Given the description of an element on the screen output the (x, y) to click on. 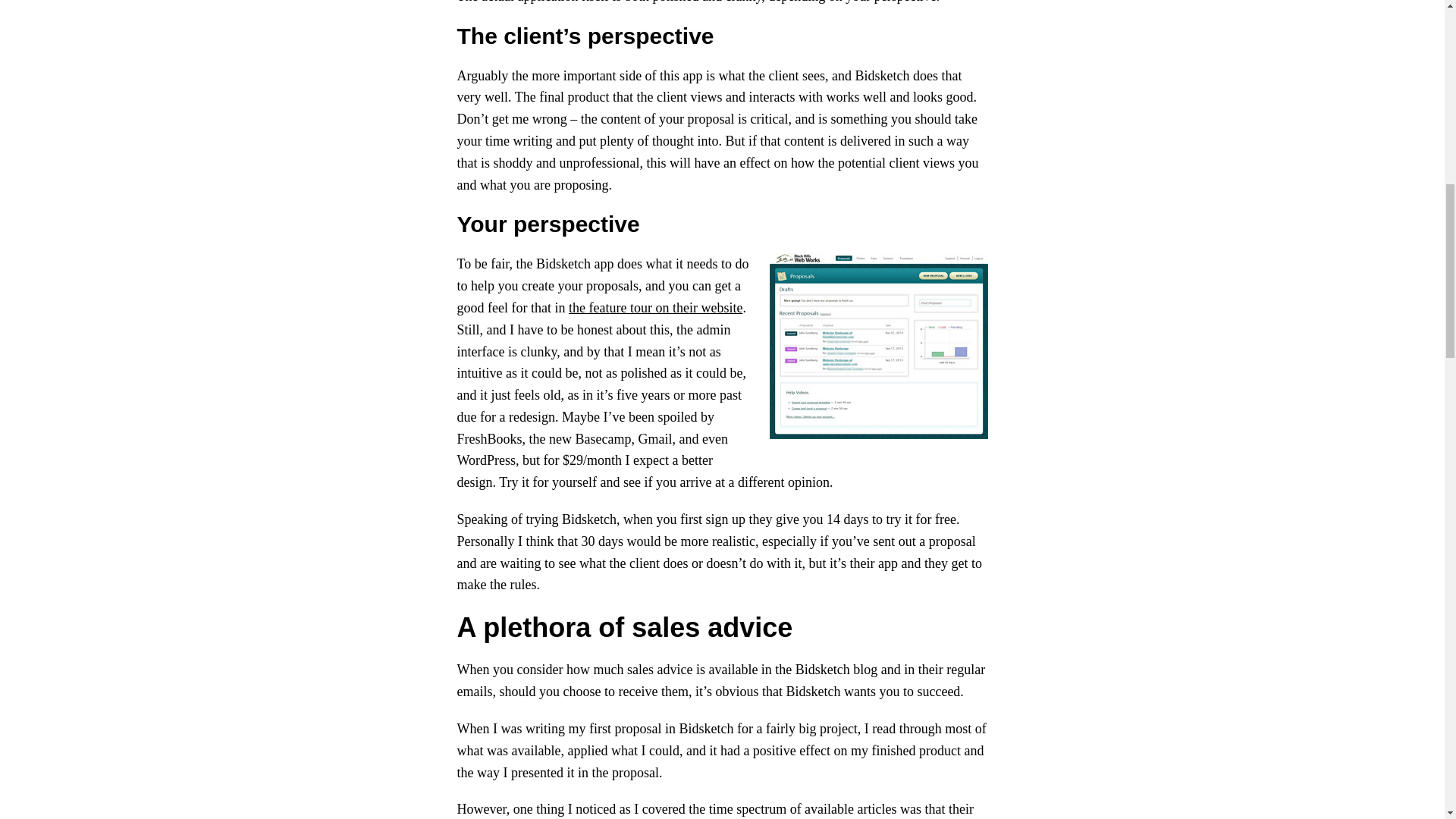
Bidsketch dashboard screenshot (877, 345)
the feature tour on their website (655, 307)
